Given the description of an element on the screen output the (x, y) to click on. 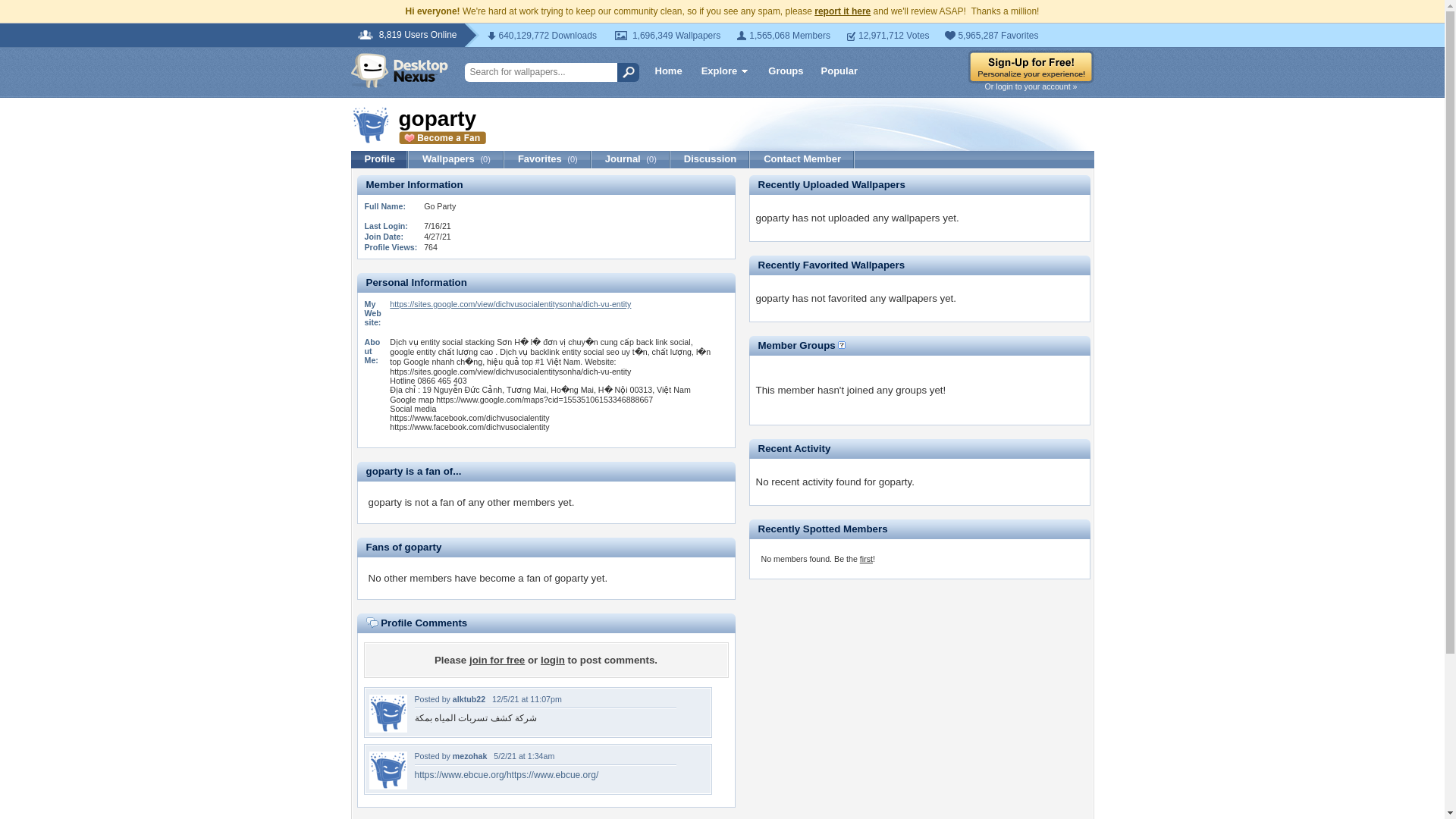
Explore (725, 72)
Contact Member (801, 159)
alktub22 (387, 728)
mezohak (387, 785)
alktub22 (468, 698)
Profile (378, 159)
Desktop Nexus Wallpapers (398, 70)
Search for wallpapers... (546, 72)
report it here (841, 10)
Discussion (709, 159)
login (552, 659)
Groups (785, 70)
join for free (496, 659)
alktub22 (468, 698)
Desktop Nexus Wallpapers (398, 70)
